Given the description of an element on the screen output the (x, y) to click on. 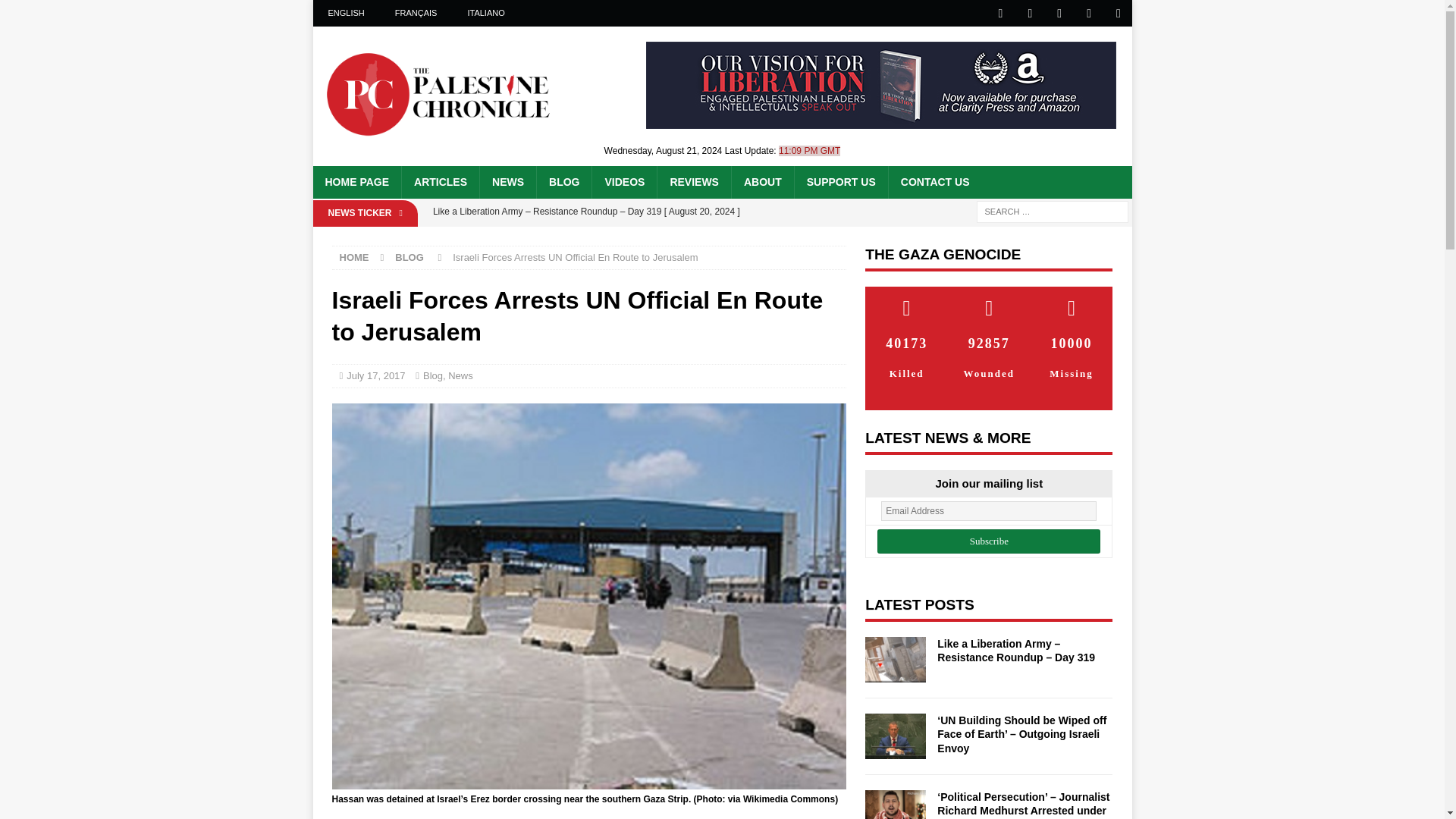
SUPPORT US (840, 182)
CONTACT US (934, 182)
BLOG (563, 182)
ARTICLES (440, 182)
Search (56, 11)
ITALIANO (485, 13)
ABOUT (761, 182)
NEWS (507, 182)
